Given the description of an element on the screen output the (x, y) to click on. 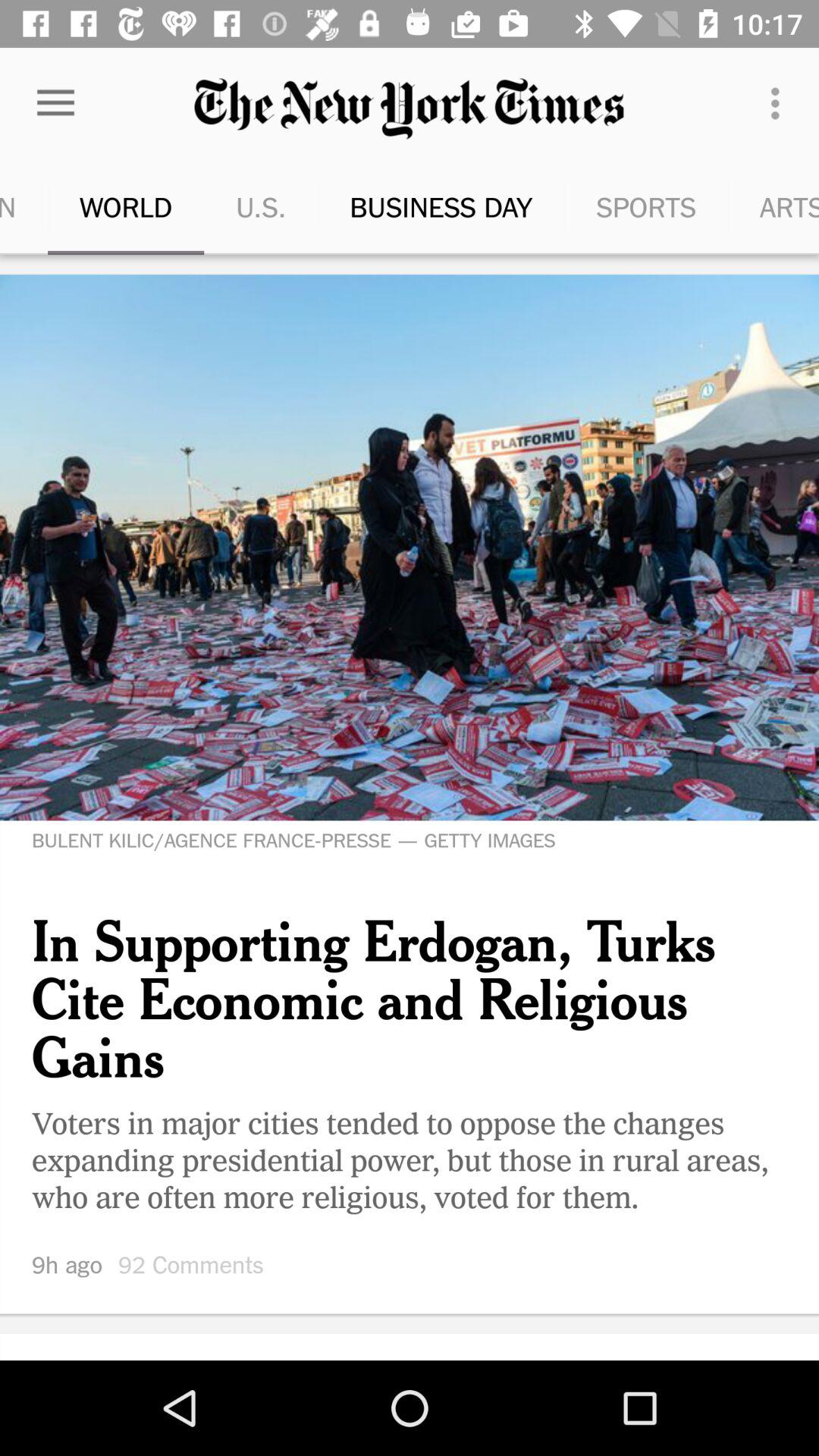
scroll to the opinion (4, 206)
